Given the description of an element on the screen output the (x, y) to click on. 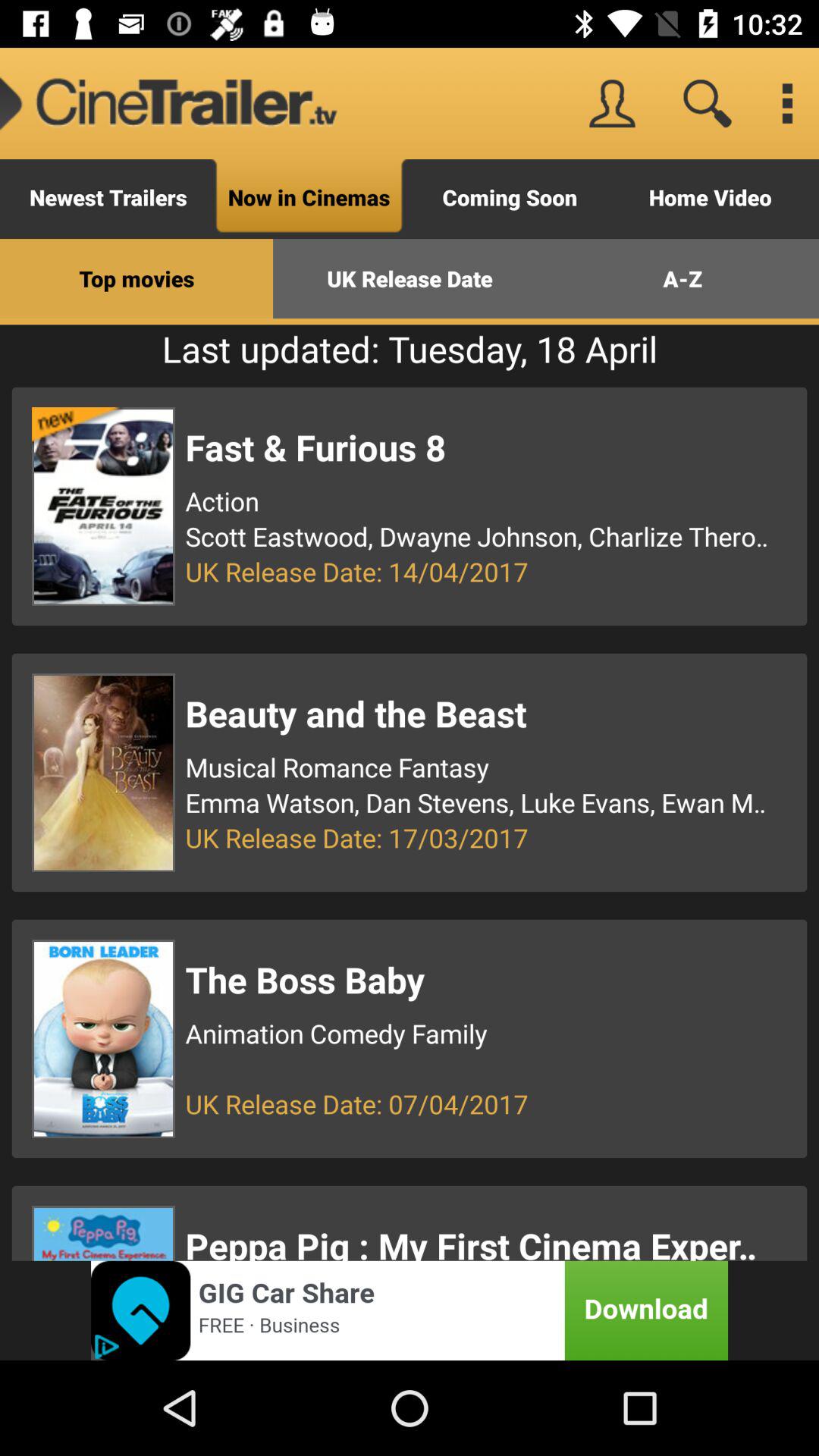
open menu option (787, 103)
